Given the description of an element on the screen output the (x, y) to click on. 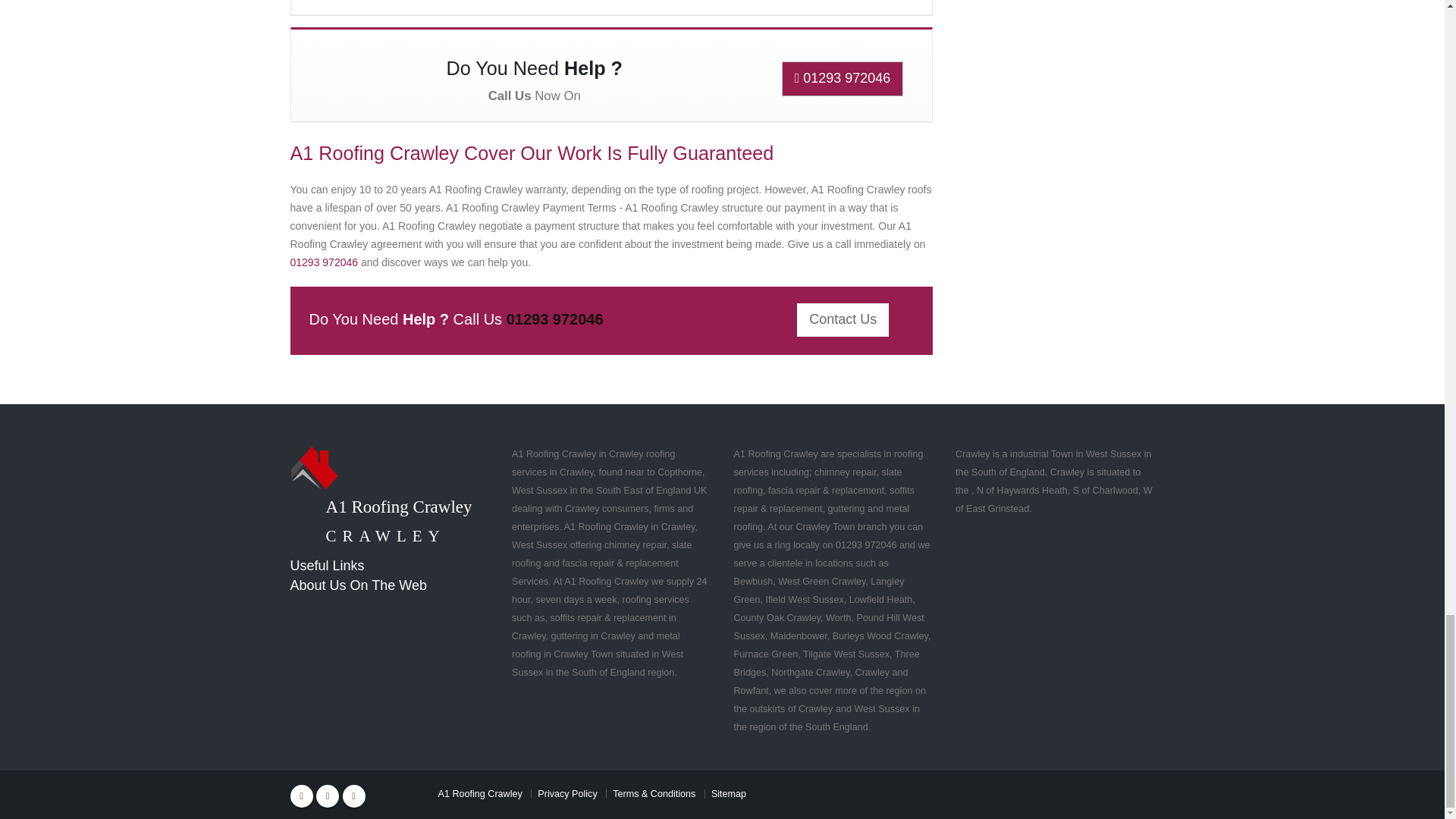
Linkedin (353, 795)
Facebook (301, 795)
Twitter (327, 795)
